Given the description of an element on the screen output the (x, y) to click on. 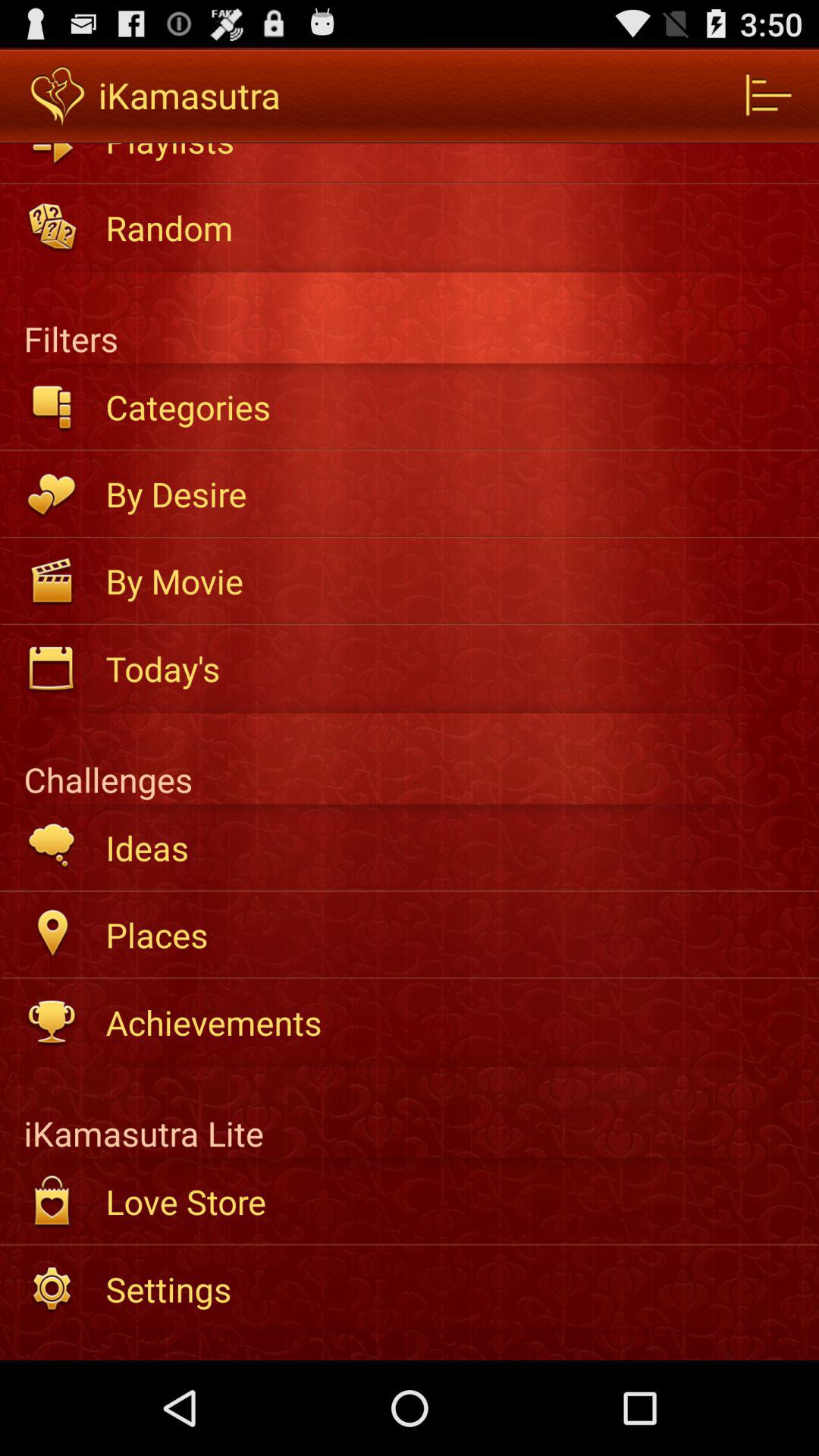
click app below ideas item (452, 934)
